Given the description of an element on the screen output the (x, y) to click on. 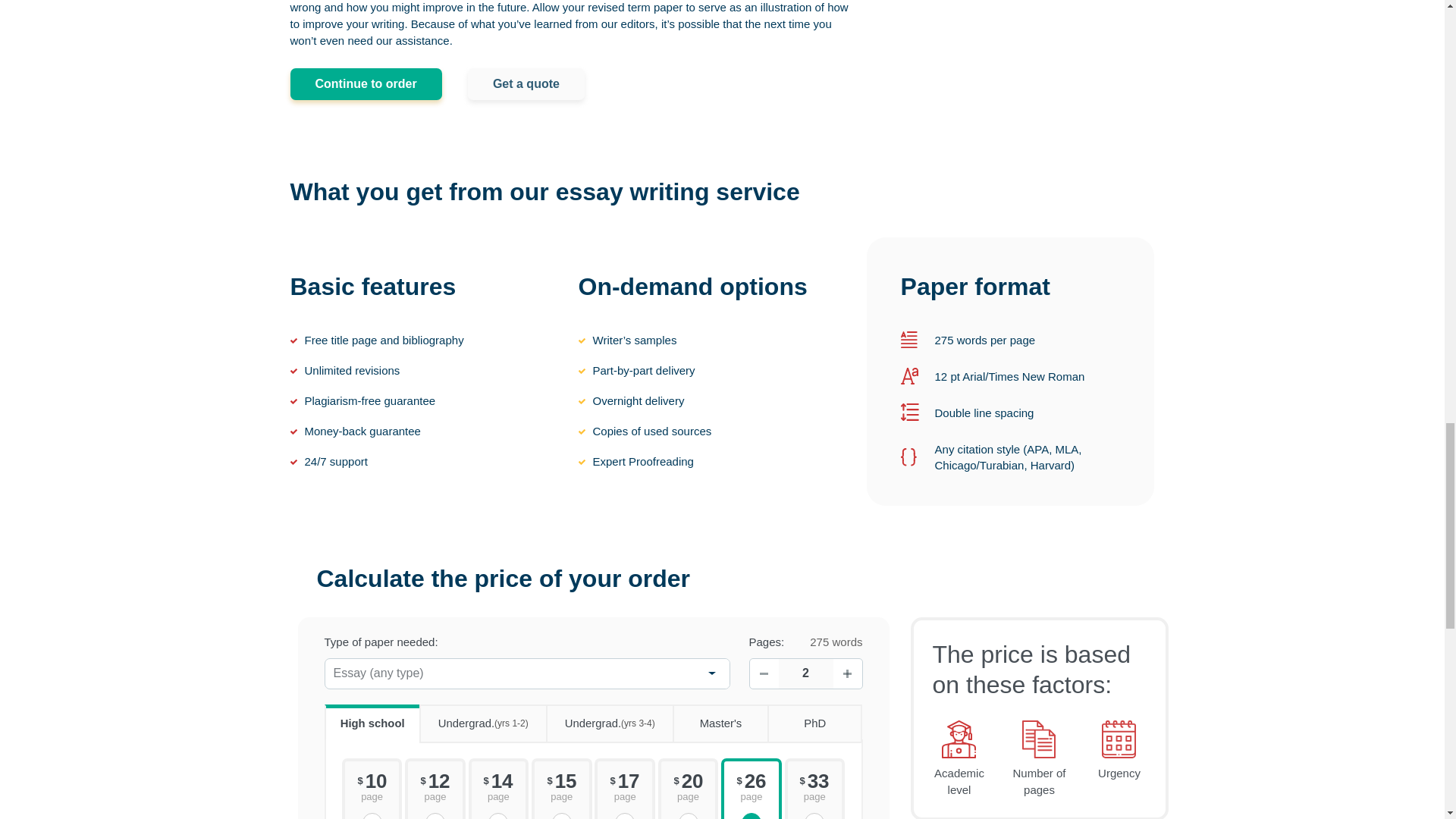
Get a quote (526, 83)
Continue to order (365, 83)
Increase (846, 673)
Decrease (763, 673)
2 (804, 673)
